Given the description of an element on the screen output the (x, y) to click on. 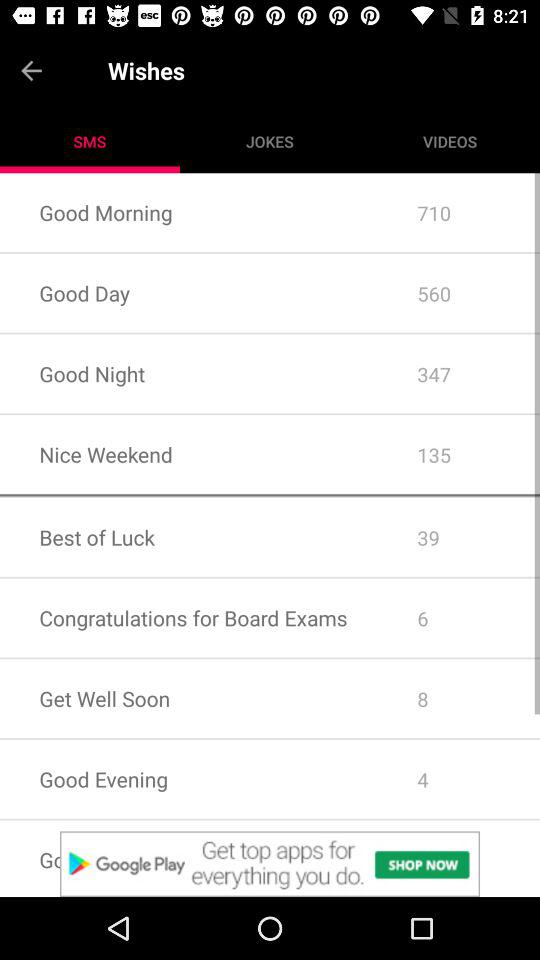
flip to good day icon (188, 292)
